Given the description of an element on the screen output the (x, y) to click on. 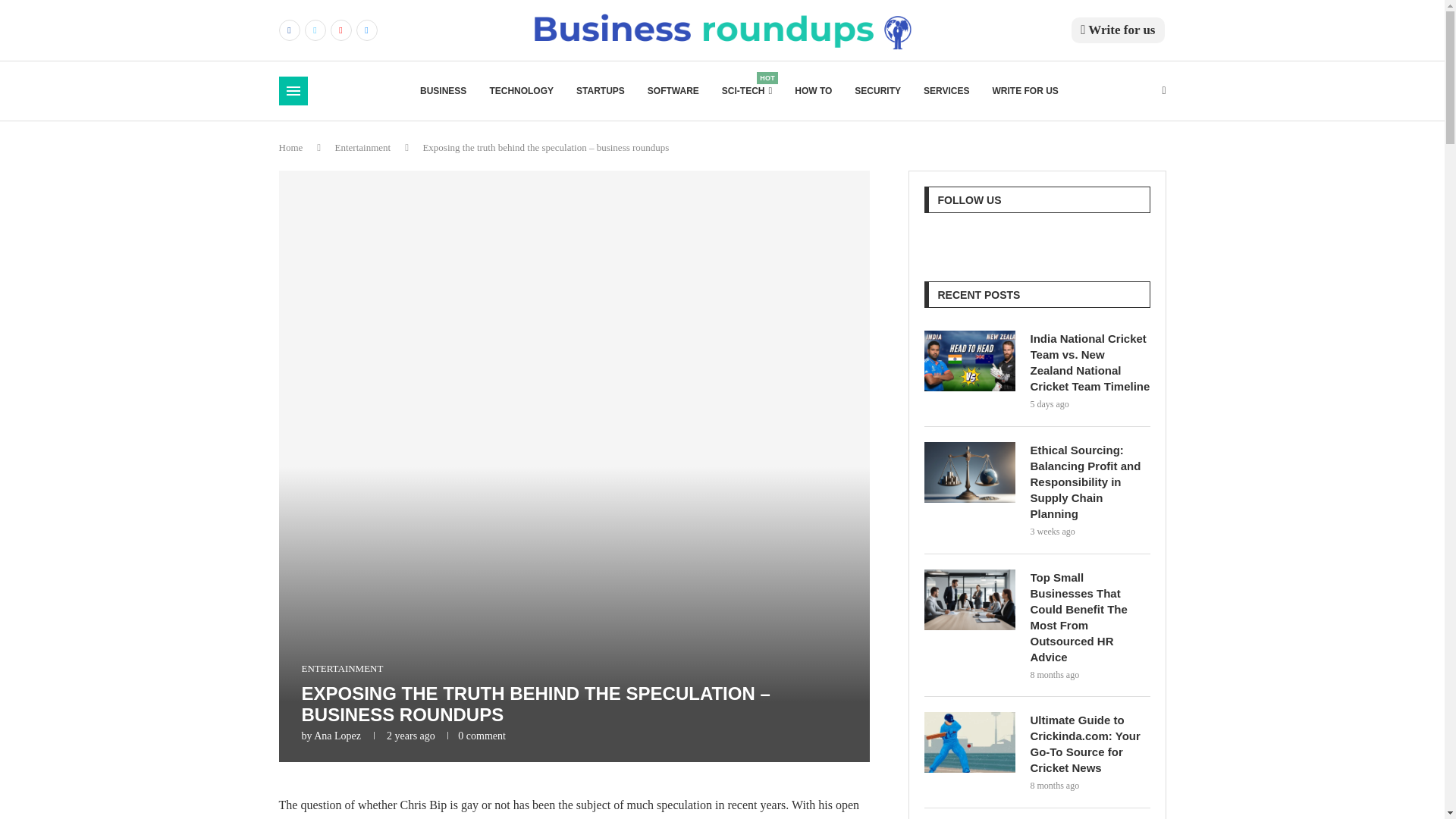
WRITE FOR US (1025, 90)
TECHNOLOGY (521, 90)
SECURITY (877, 90)
Write for us (1117, 30)
SOFTWARE (672, 90)
STARTUPS (600, 90)
BUSINESS (442, 90)
SERVICES (746, 90)
